Given the description of an element on the screen output the (x, y) to click on. 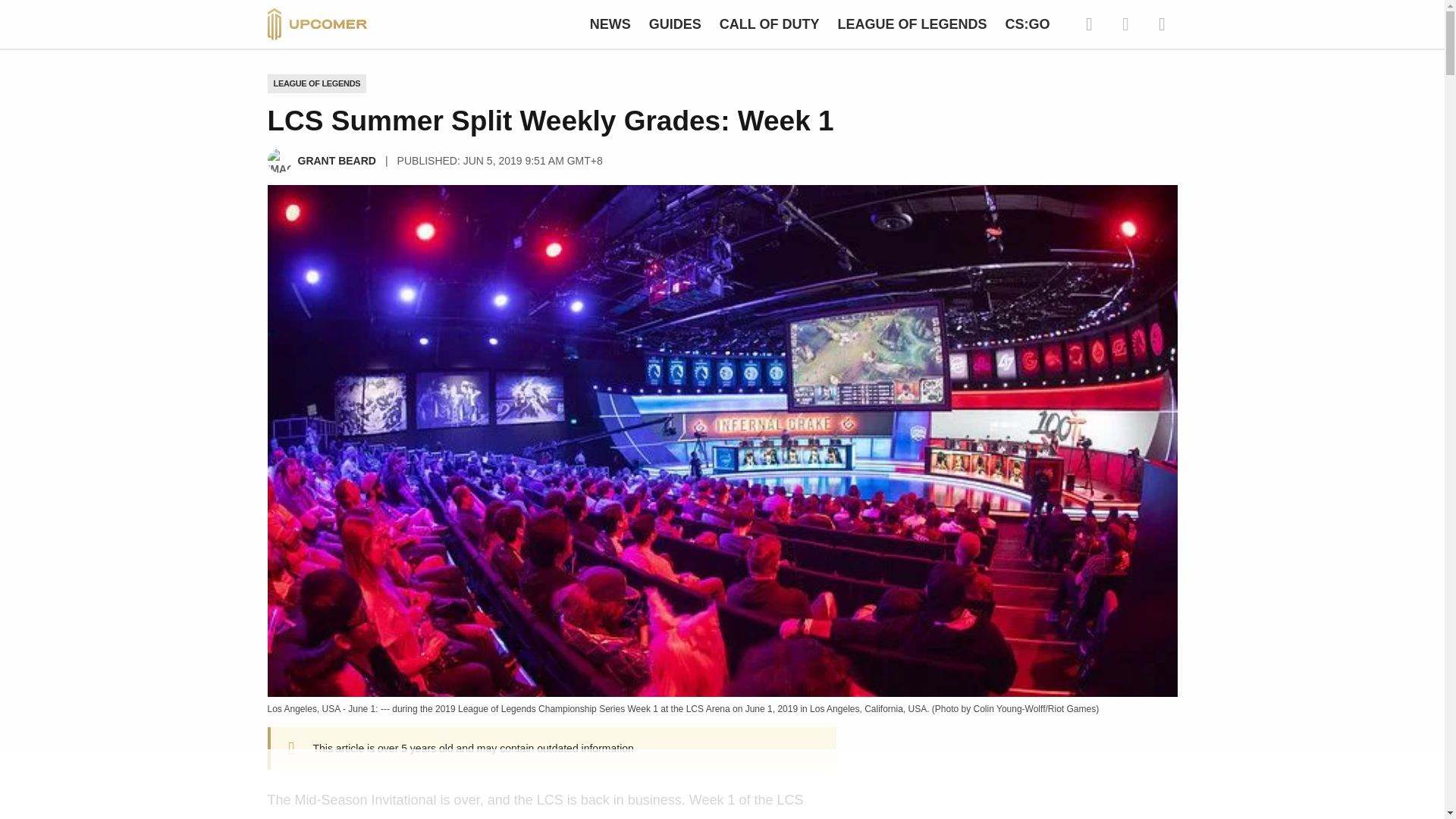
NEWS (609, 23)
LEAGUE OF LEGENDS (912, 23)
GUIDES (675, 23)
3rd party ad content (721, 785)
CS:GO (1026, 23)
Search (1088, 24)
3rd party ad content (1024, 782)
Expand Menu (1161, 24)
CALL OF DUTY (769, 23)
LEAGUE OF LEGENDS (316, 83)
back in business (630, 799)
Dark Mode (1124, 24)
